Given the description of an element on the screen output the (x, y) to click on. 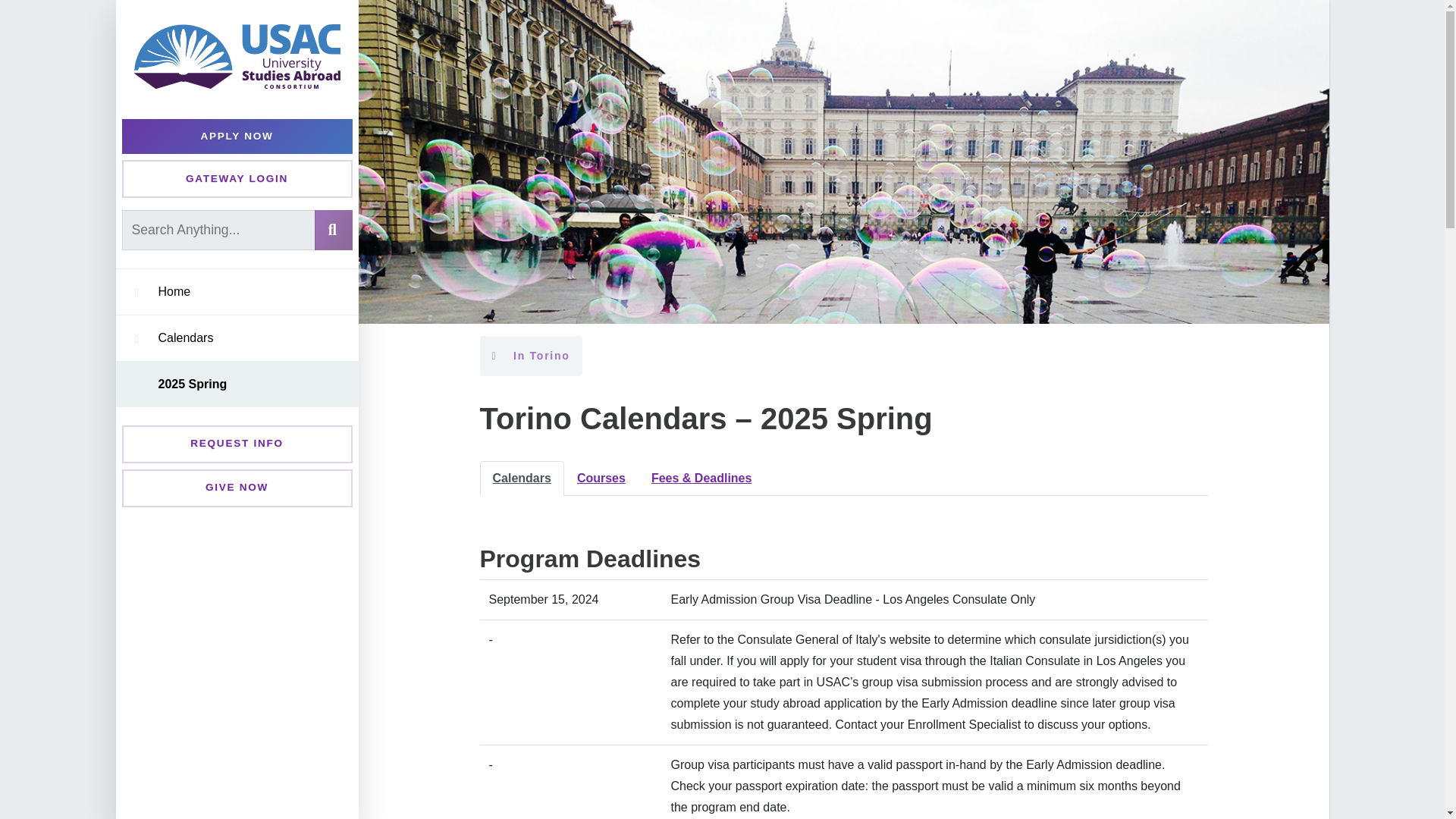
Calendars (246, 338)
Calendars (521, 478)
Search (333, 229)
APPLY NOW (236, 135)
REQUEST INFO (236, 444)
Home (246, 291)
GATEWAY LOGIN (236, 178)
Courses (601, 478)
In Torino (529, 355)
Navigate menu to Calendars (135, 337)
Navigate menu to home (135, 291)
GIVE NOW (236, 487)
